Given the description of an element on the screen output the (x, y) to click on. 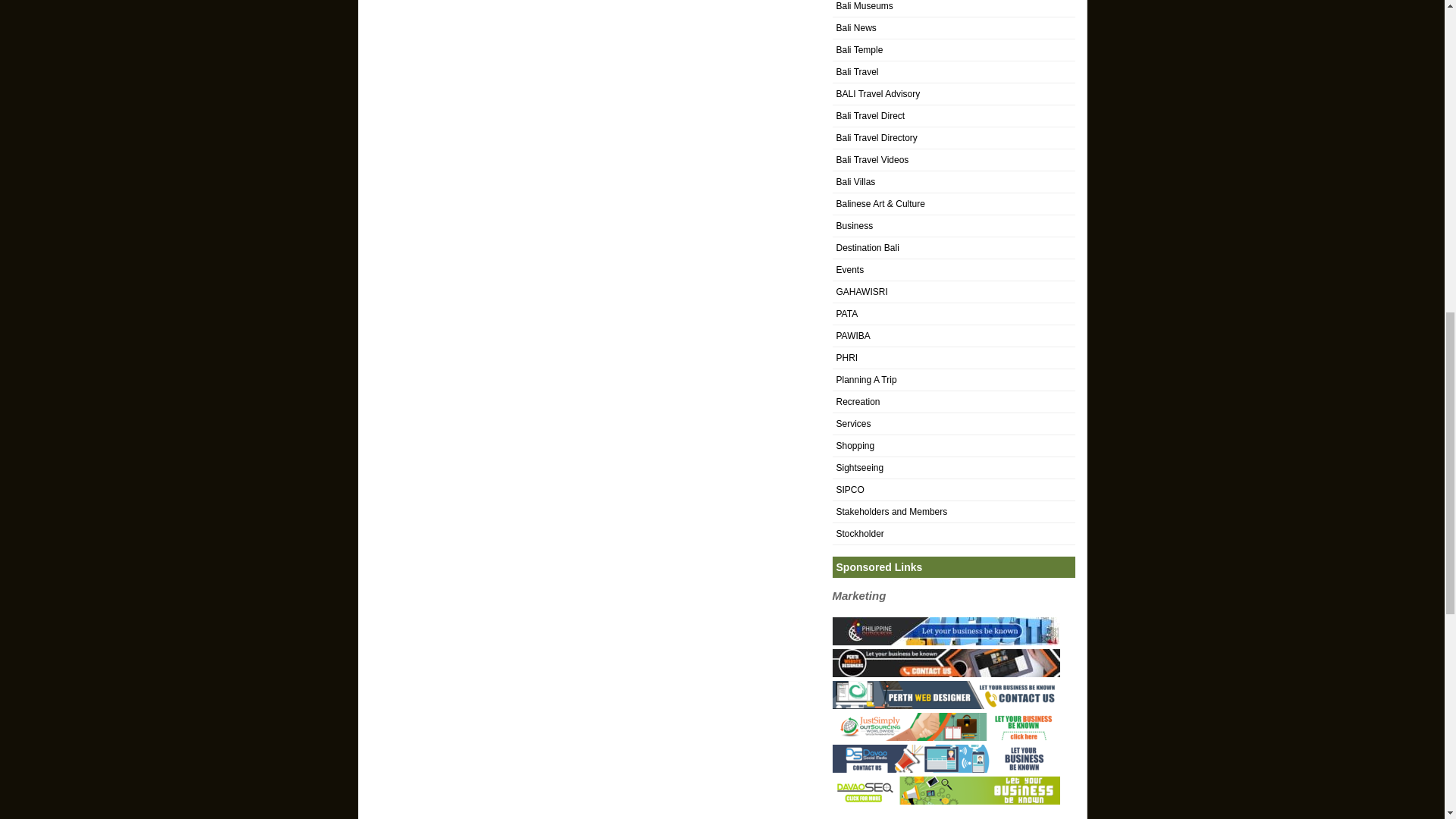
Bali News (855, 27)
Bali Travel (856, 71)
Bali Museums (863, 5)
Bali Temple (858, 50)
